Given the description of an element on the screen output the (x, y) to click on. 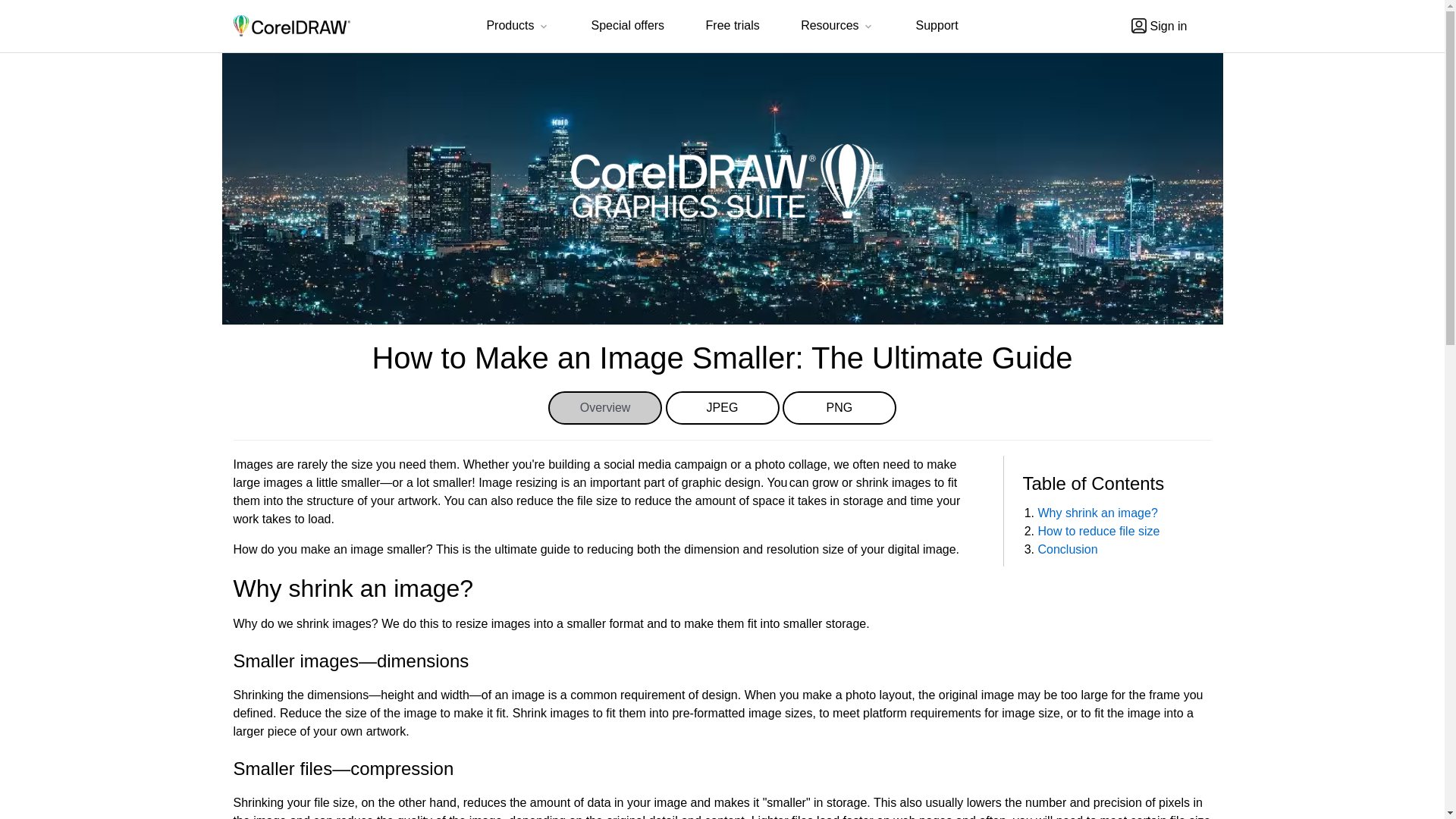
Special offers (627, 25)
Sign in (1159, 25)
CorelDRAW (291, 25)
Resources (837, 27)
Free trials (732, 25)
Support (936, 25)
Products (518, 27)
